Given the description of an element on the screen output the (x, y) to click on. 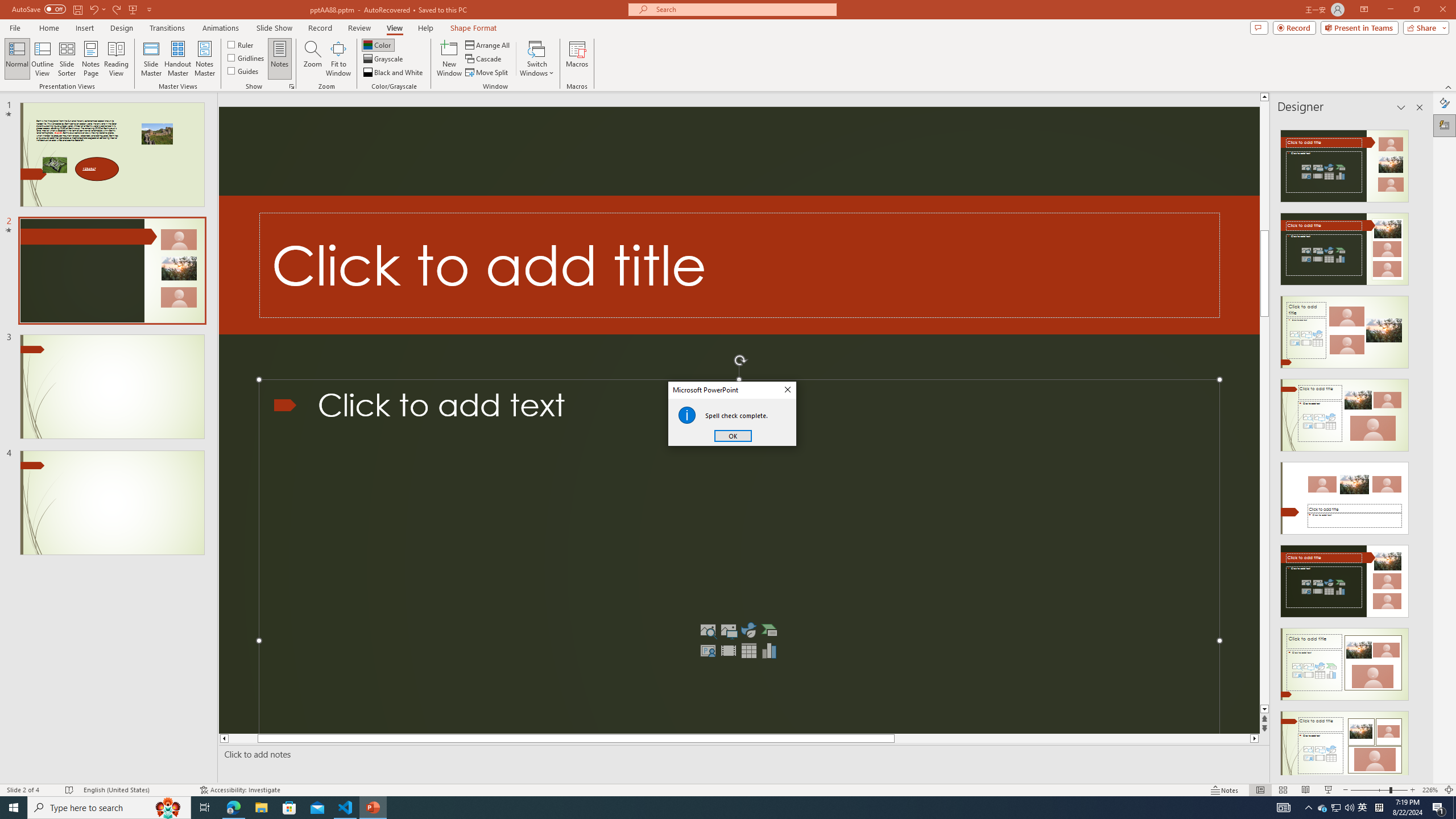
Move Split (487, 72)
OK (732, 435)
Slide Master (151, 58)
Outline View (42, 58)
